Given the description of an element on the screen output the (x, y) to click on. 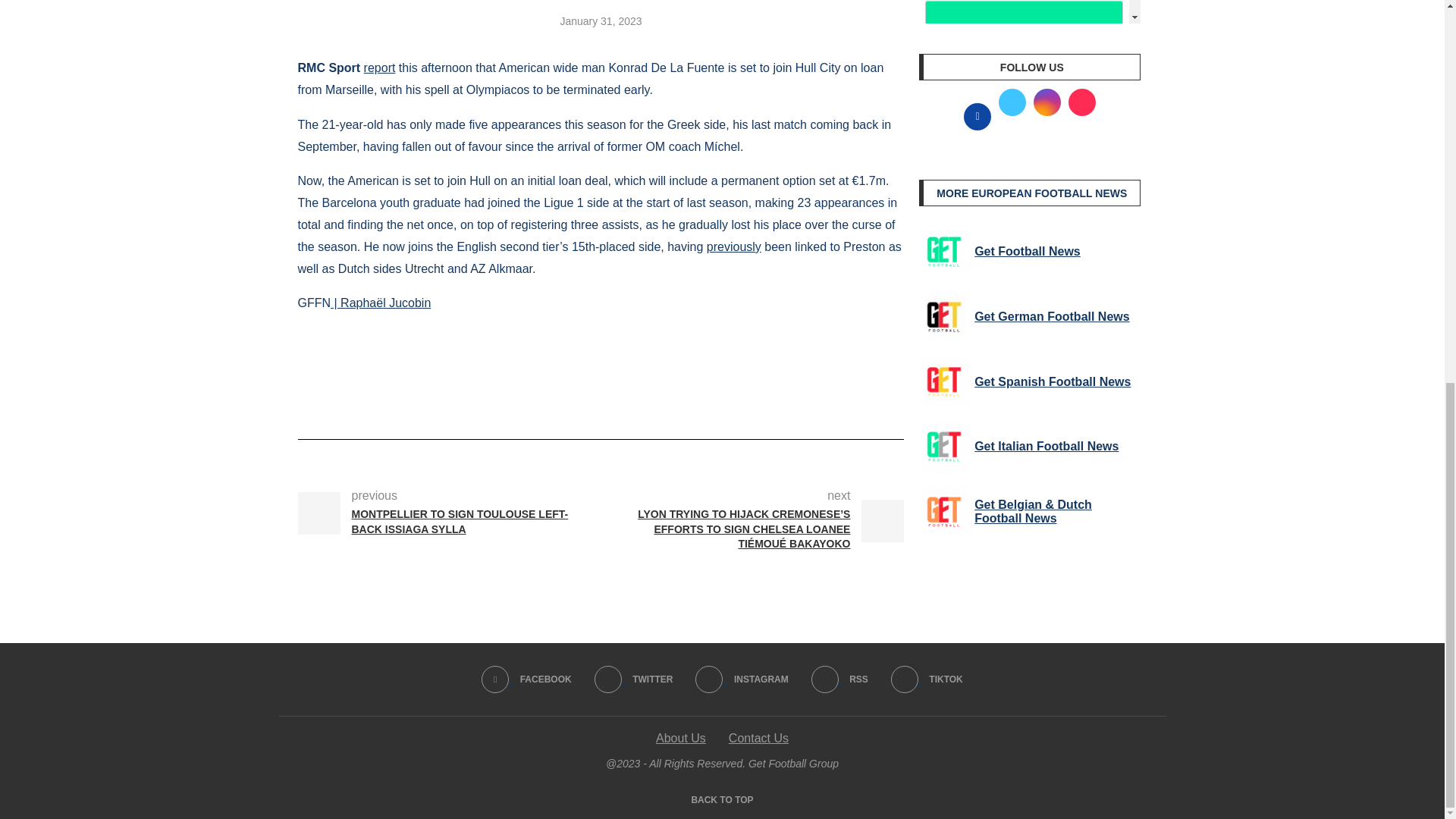
Get Italian Football News (943, 446)
Get Spanish Football News (943, 382)
Get German Football News (943, 316)
Get Football News (943, 251)
